Given the description of an element on the screen output the (x, y) to click on. 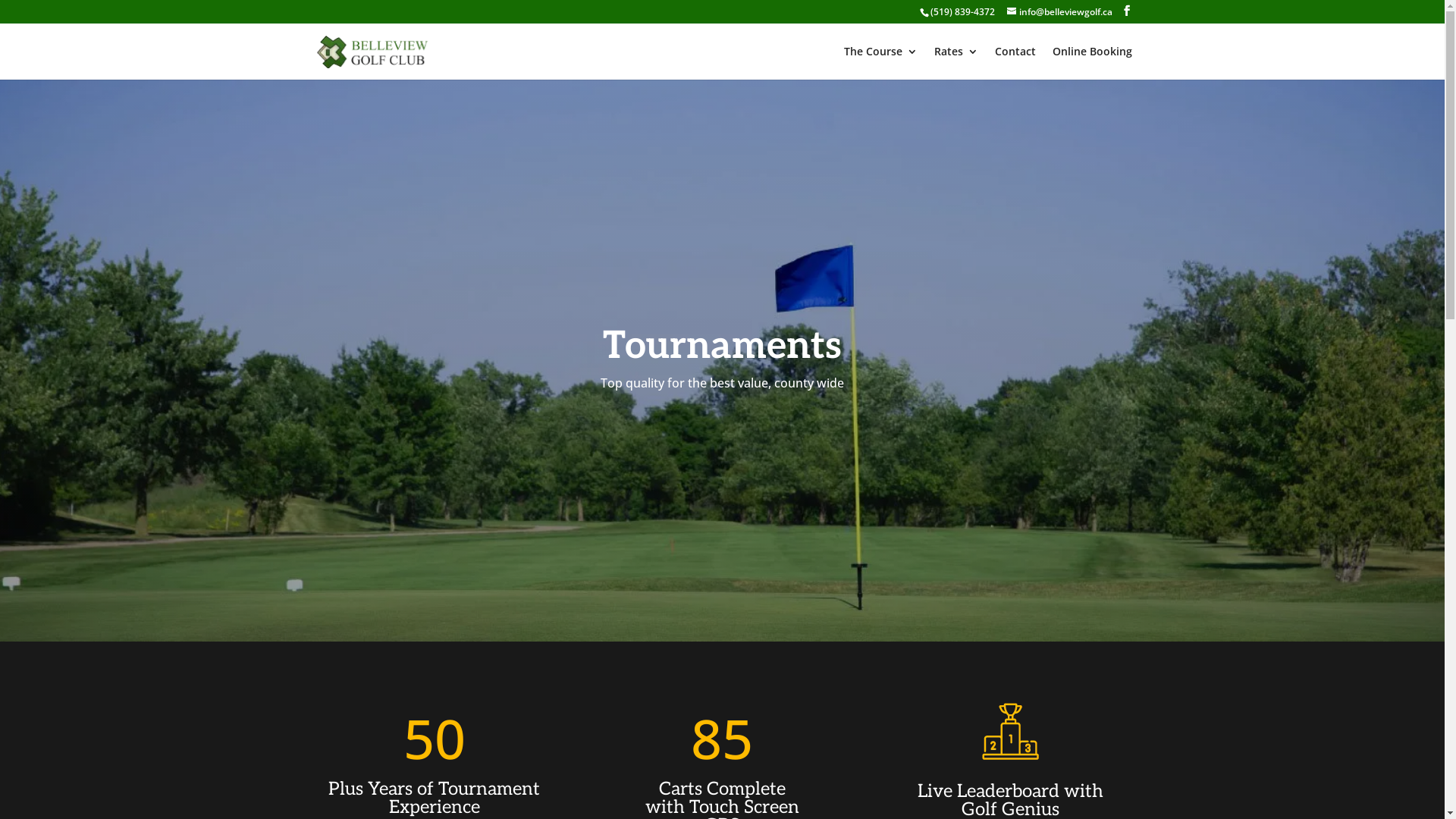
Online Booking Element type: text (1092, 62)
Contact Element type: text (1014, 62)
The Course Element type: text (879, 62)
info@belleviewgolf.ca Element type: text (1059, 11)
Rates Element type: text (956, 62)
